Given the description of an element on the screen output the (x, y) to click on. 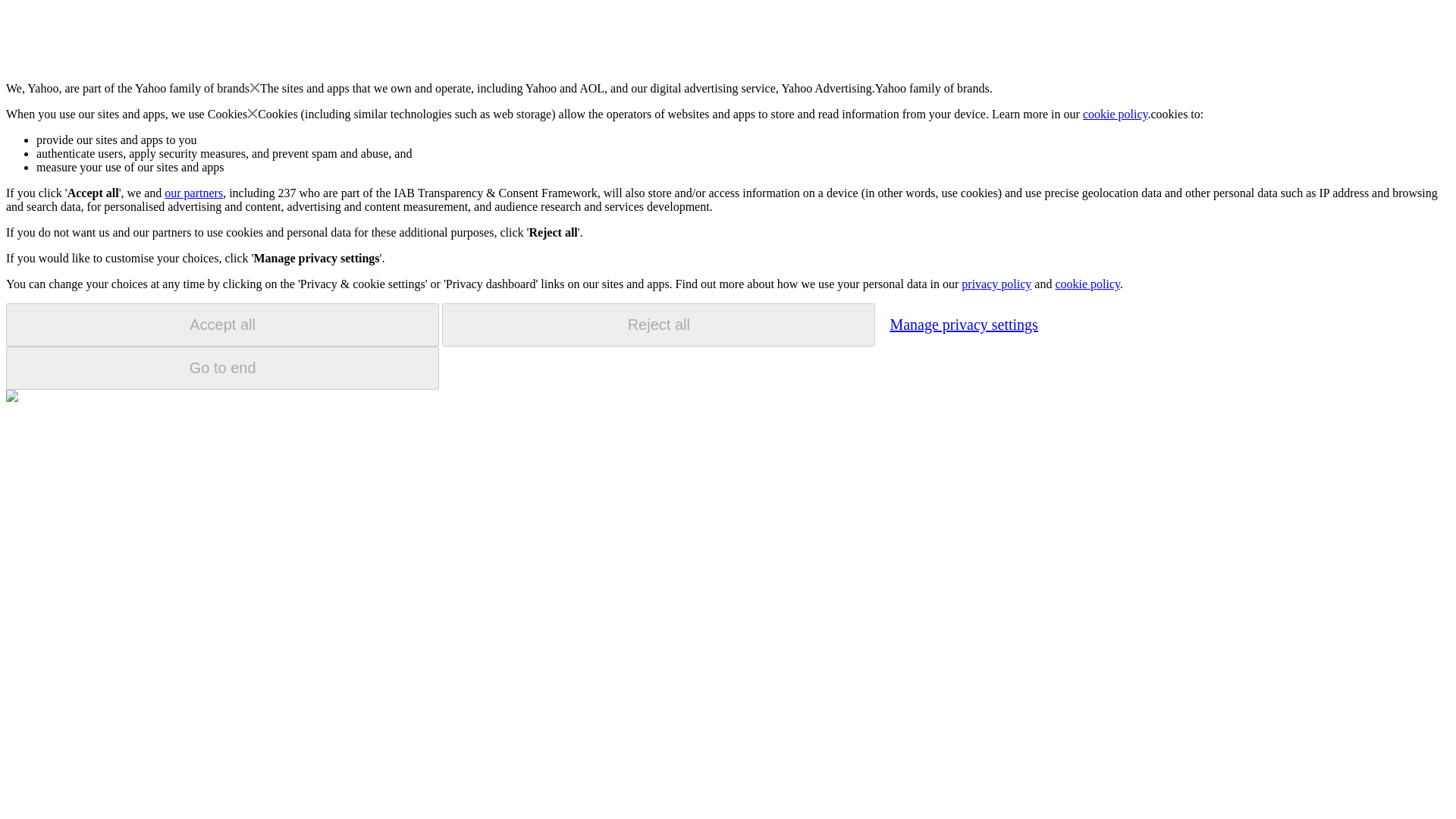
Reject all (658, 324)
privacy policy (995, 283)
cookie policy (1086, 283)
Go to end (222, 367)
cookie policy (1115, 113)
our partners (193, 192)
Accept all (222, 324)
Manage privacy settings (963, 323)
